Given the description of an element on the screen output the (x, y) to click on. 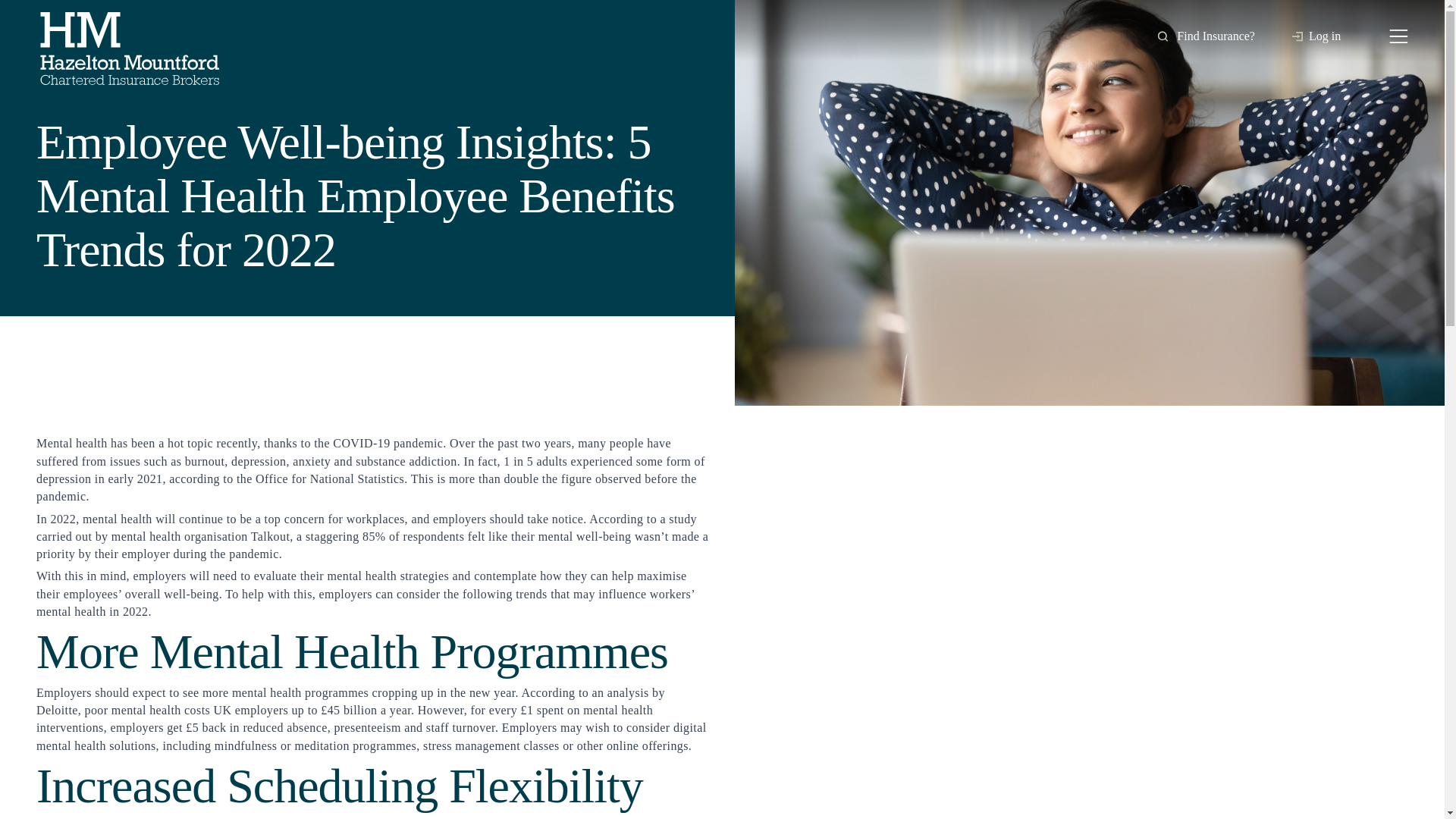
Find Insurance? (1205, 36)
